Given the description of an element on the screen output the (x, y) to click on. 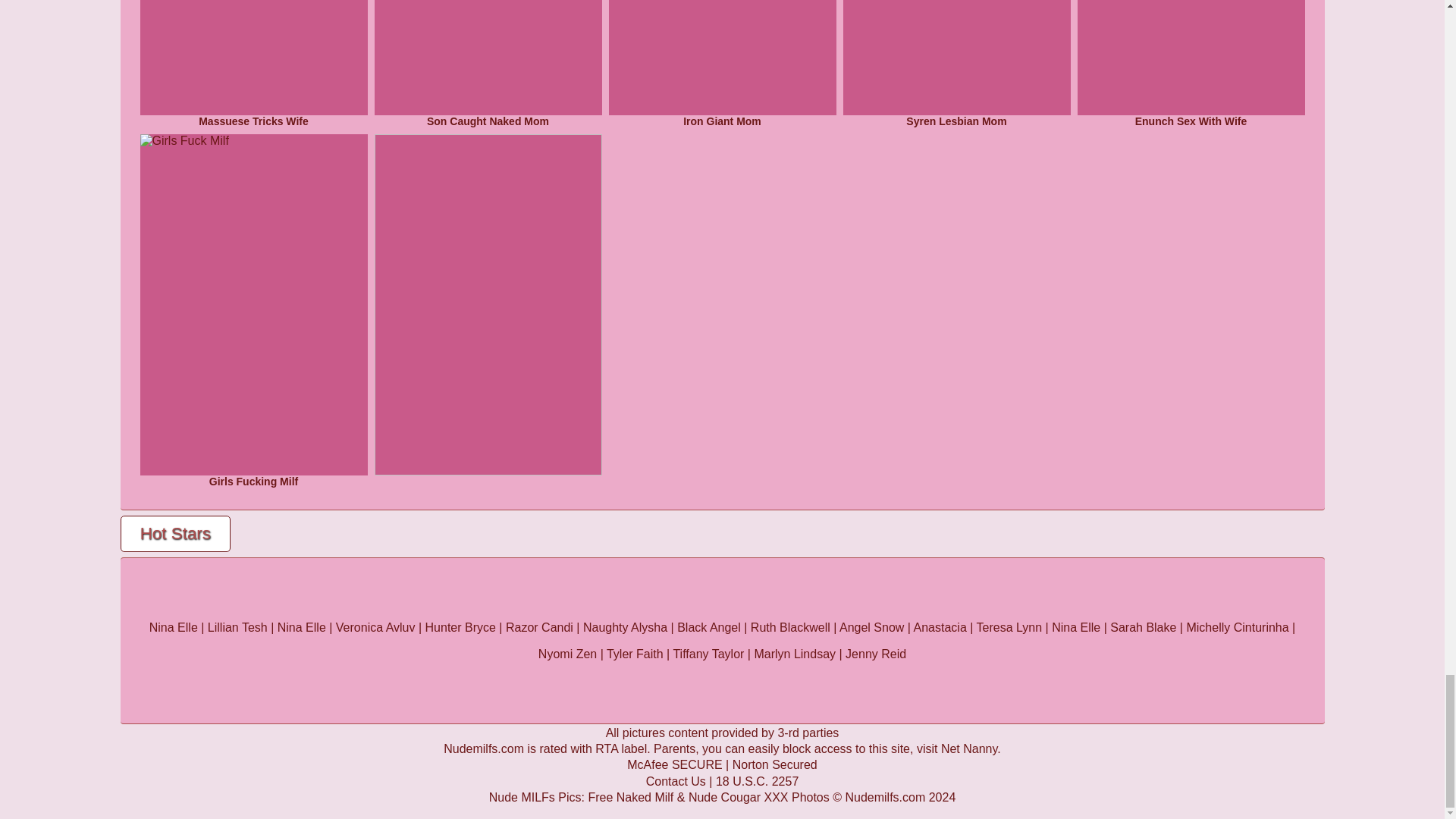
RTA (606, 748)
McAfee (674, 764)
net nanny (968, 748)
Contact (676, 780)
18 U.S.C. 2257 (756, 780)
Norton (774, 764)
